Given the description of an element on the screen output the (x, y) to click on. 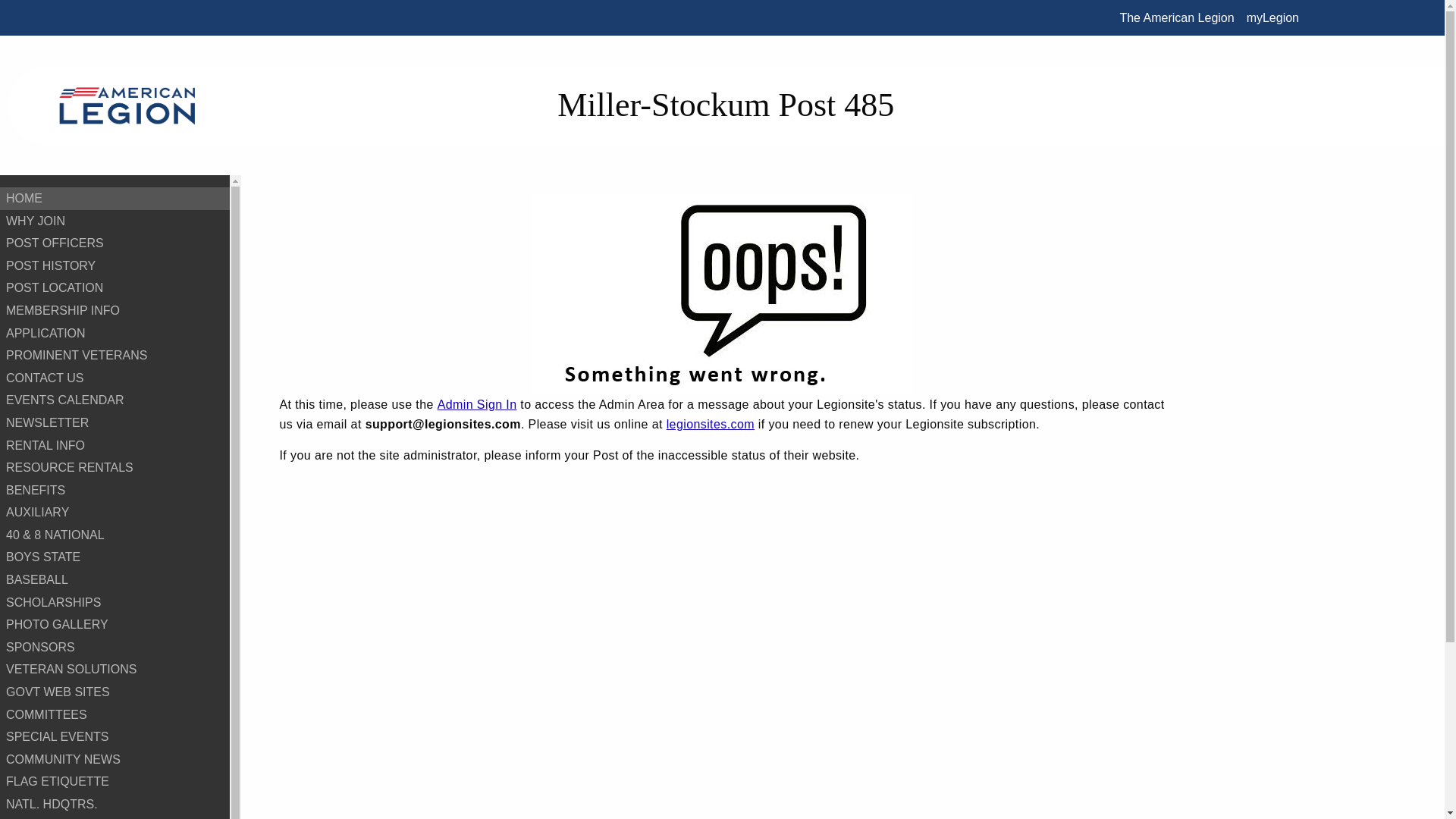
NATL. HDQTRS. (115, 804)
Legion.org (1176, 17)
MEMBERSHIP INFO (115, 310)
American Legion (127, 105)
Oops (721, 293)
FLAG ETIQUETTE (115, 781)
BOYS STATE (115, 557)
POST LOCATION (115, 287)
GOVT WEB SITES (115, 691)
BASEBALL (115, 579)
CONTACT US (115, 377)
The American Legion (1176, 17)
HOME (115, 198)
SPECIAL EVENTS (115, 736)
STATE HDQTRS. (115, 817)
